Given the description of an element on the screen output the (x, y) to click on. 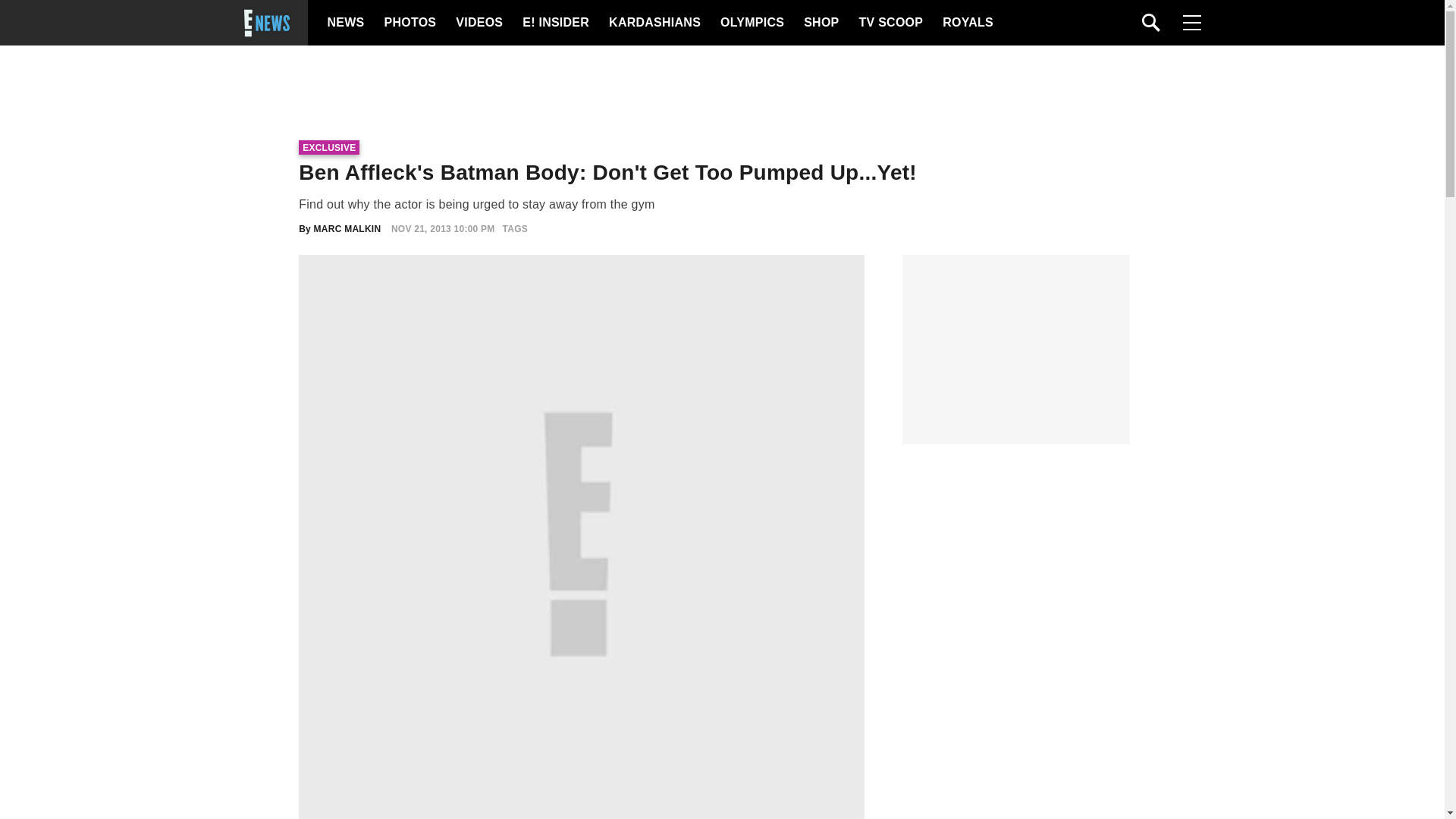
PHOTOS (408, 22)
VIDEOS (478, 22)
TV SCOOP (890, 22)
KARDASHIANS (653, 22)
SHOP (820, 22)
ROYALS (966, 22)
E! INSIDER (555, 22)
OLYMPICS (751, 22)
MARC MALKIN (347, 228)
NEWS (345, 22)
